Given the description of an element on the screen output the (x, y) to click on. 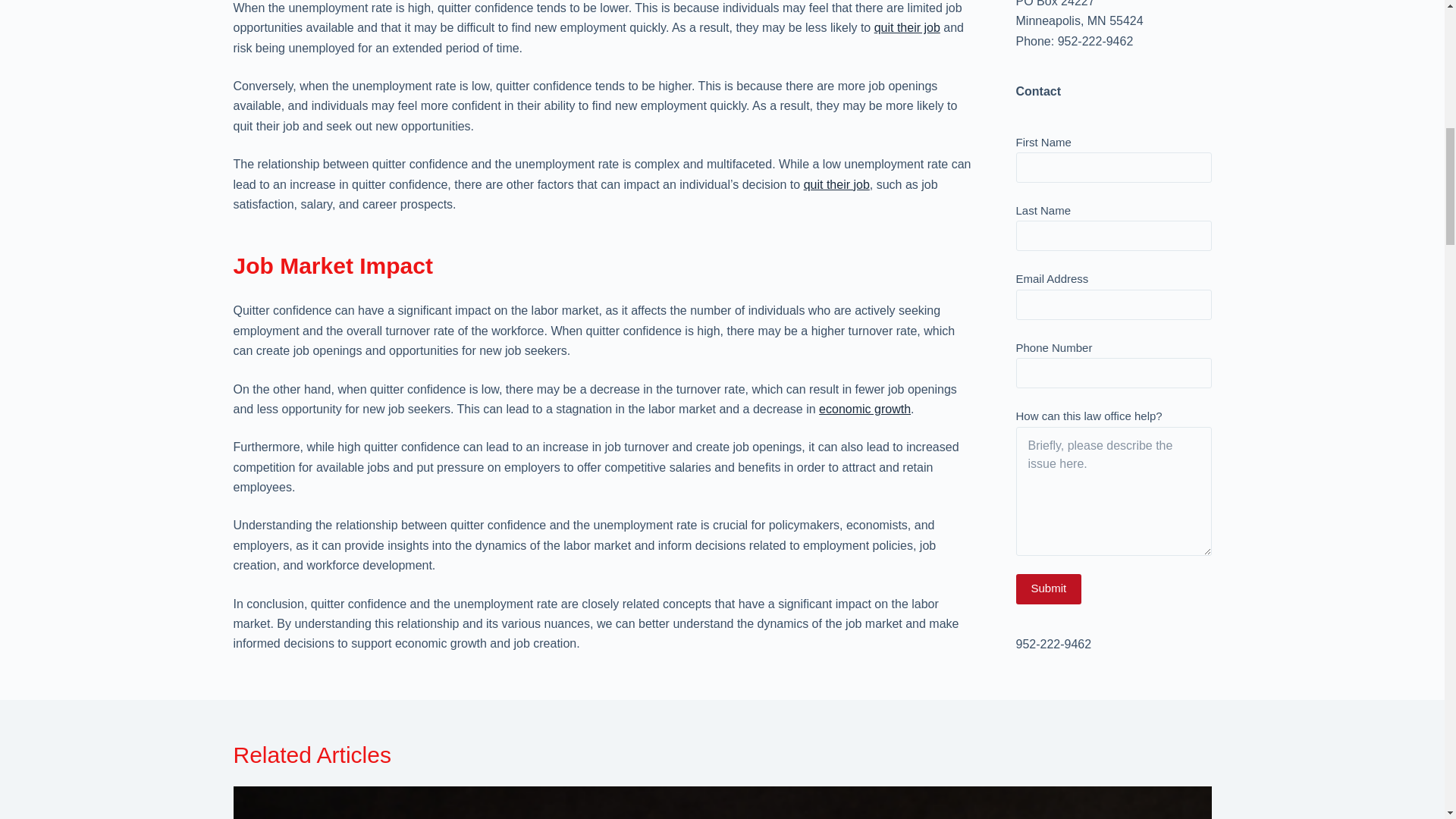
economic growth (864, 408)
quit their job (836, 184)
952-222-9462 (1054, 156)
quit their job (907, 27)
Submit (1048, 101)
Submit (1048, 101)
